Given the description of an element on the screen output the (x, y) to click on. 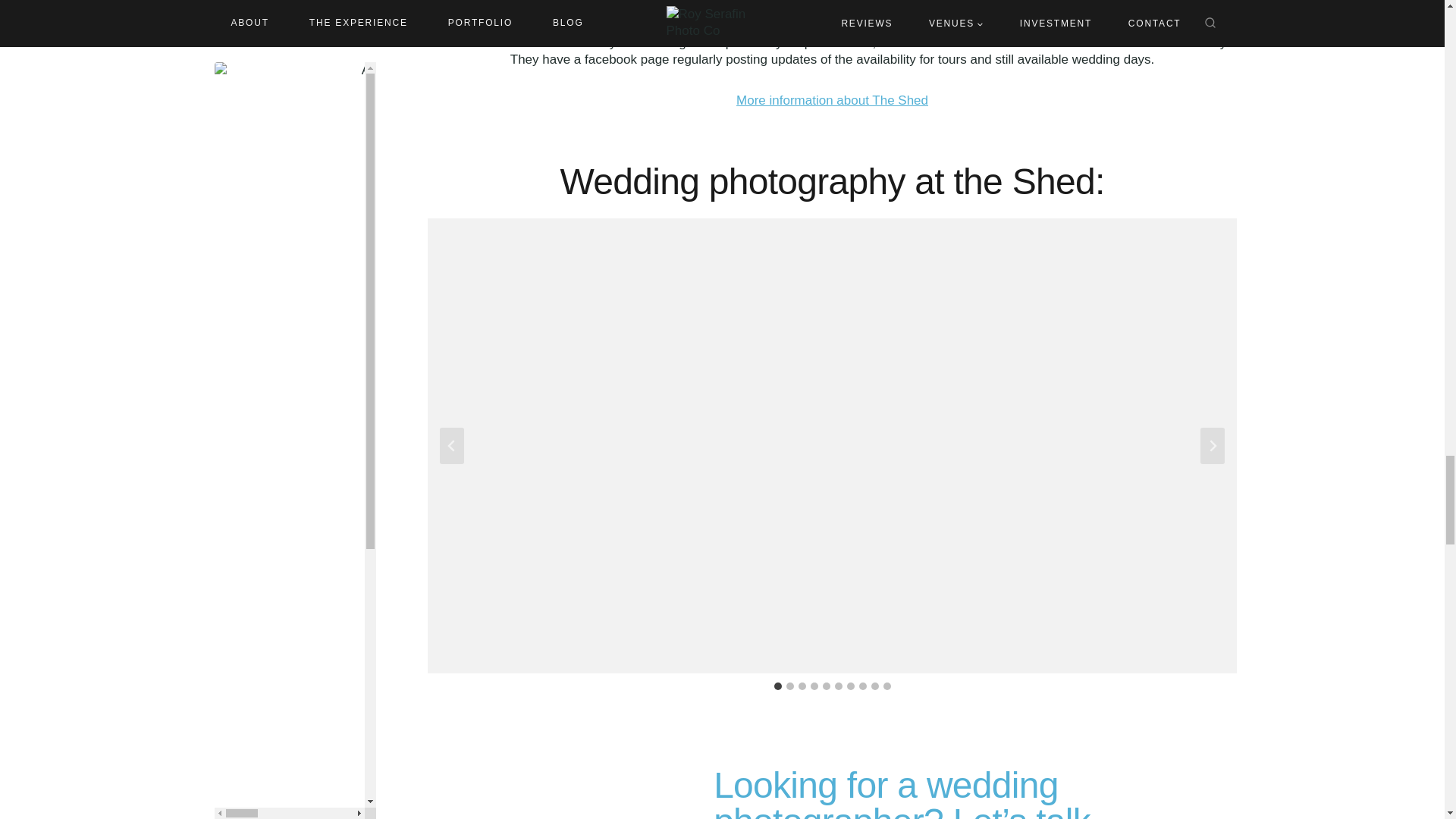
More information about The Shed (832, 100)
